Given the description of an element on the screen output the (x, y) to click on. 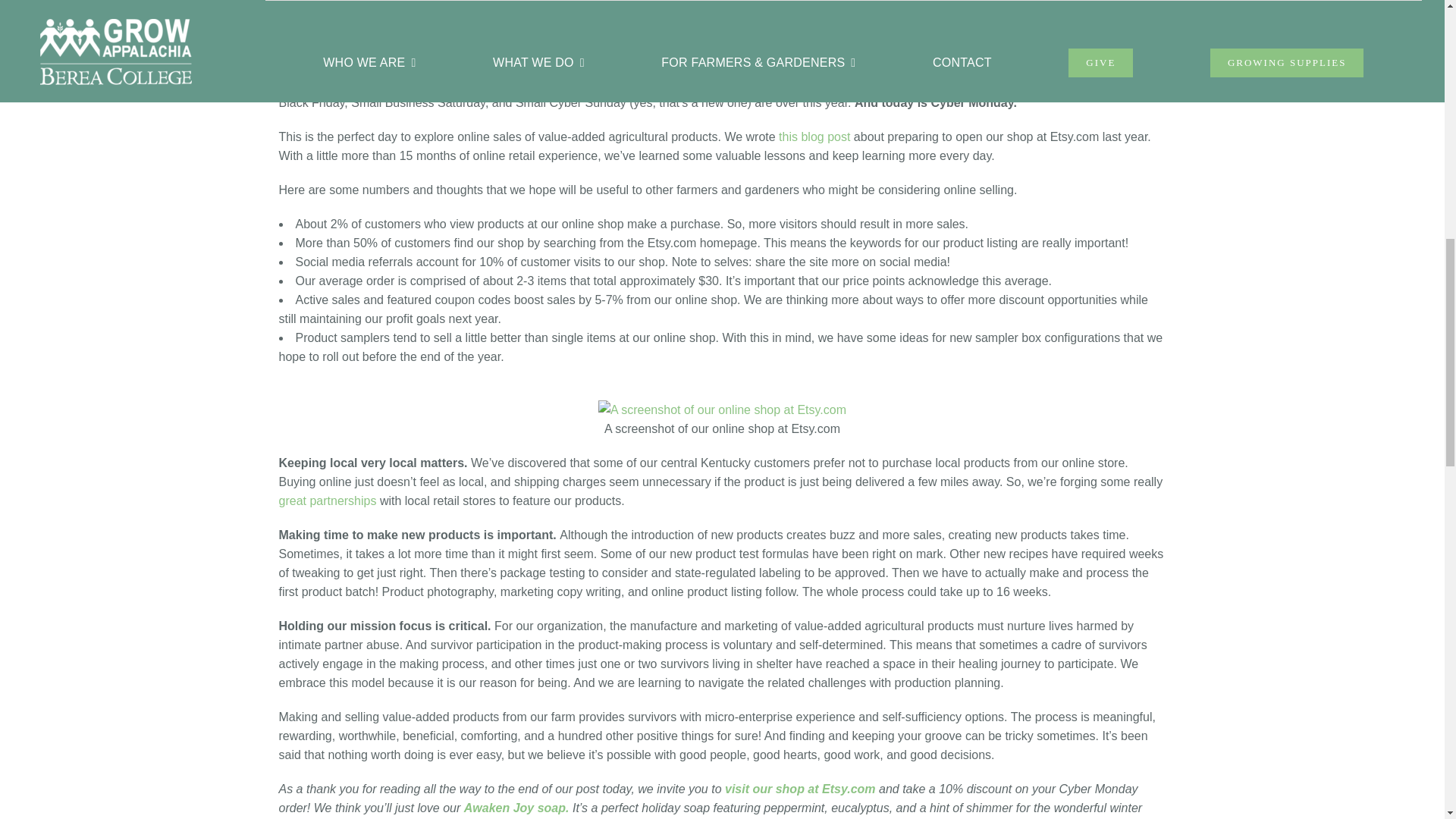
GreenHouse17 (337, 68)
this blog post (814, 136)
